Given the description of an element on the screen output the (x, y) to click on. 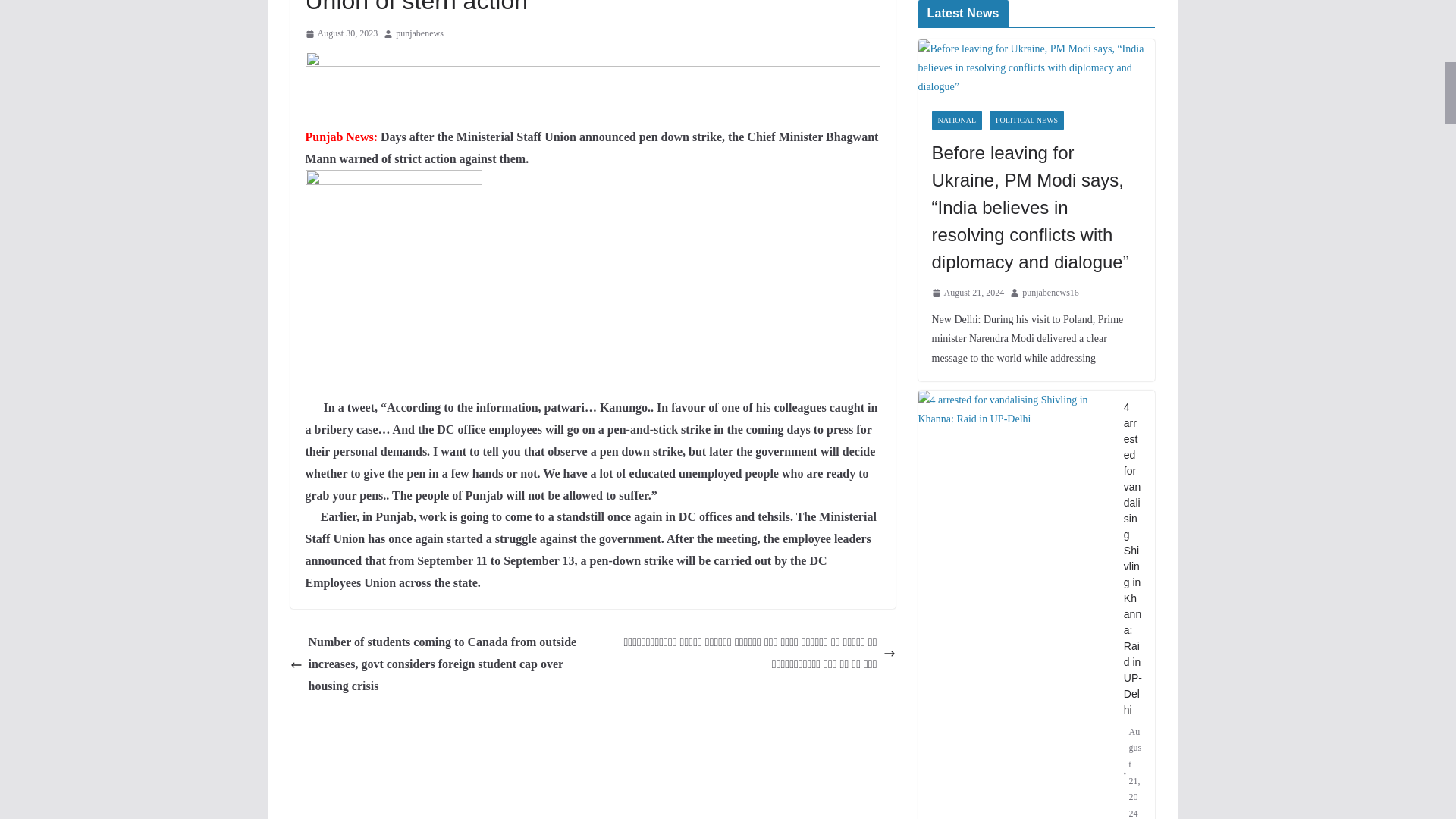
punjabenews16 (1050, 293)
August 21, 2024 (967, 293)
9:35 am (340, 33)
August 30, 2023 (340, 33)
punjabenews (420, 33)
punjabenews (420, 33)
POLITICAL NEWS (1027, 120)
11:31 pm (967, 293)
NATIONAL (956, 120)
